Given the description of an element on the screen output the (x, y) to click on. 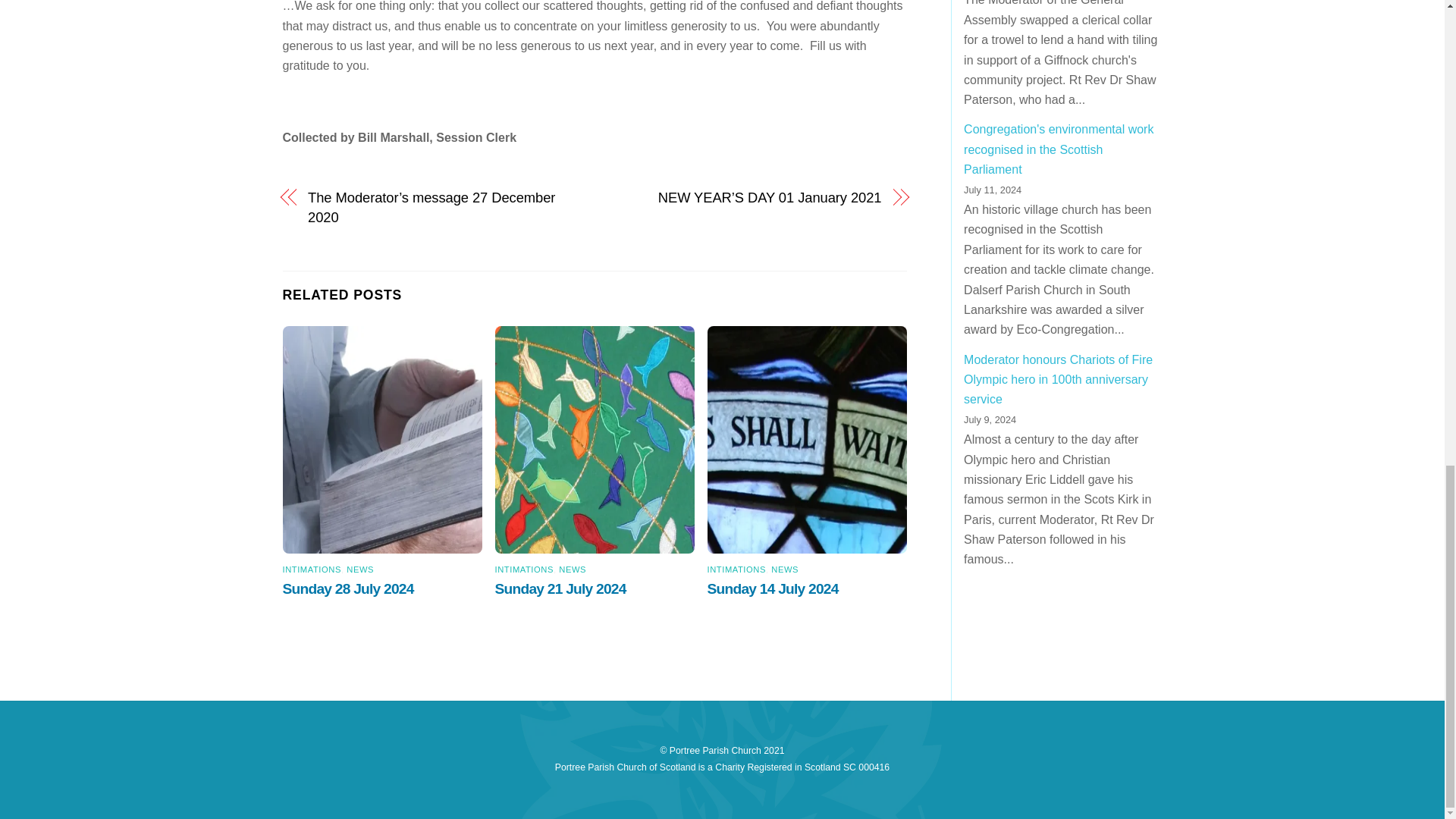
Sunday 28 July 2024  (349, 588)
NEWS (572, 569)
Sunday 21 July 2024  (562, 588)
INTIMATIONS (311, 569)
INTIMATIONS (524, 569)
INTIMATIONS (736, 569)
NEWS (360, 569)
Sunday 14 July 2024  (775, 588)
NEWS (784, 569)
